Given the description of an element on the screen output the (x, y) to click on. 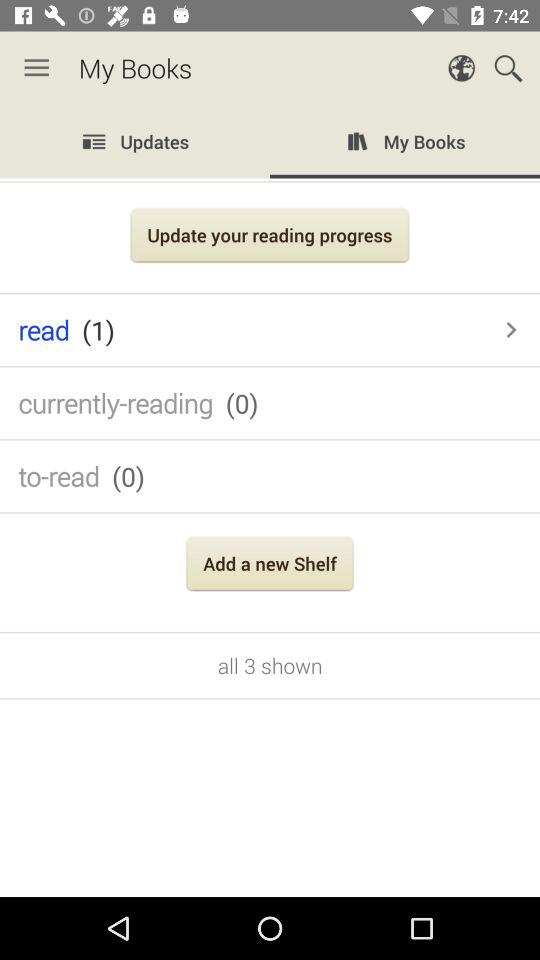
turn off the icon above update your reading (270, 144)
